Given the description of an element on the screen output the (x, y) to click on. 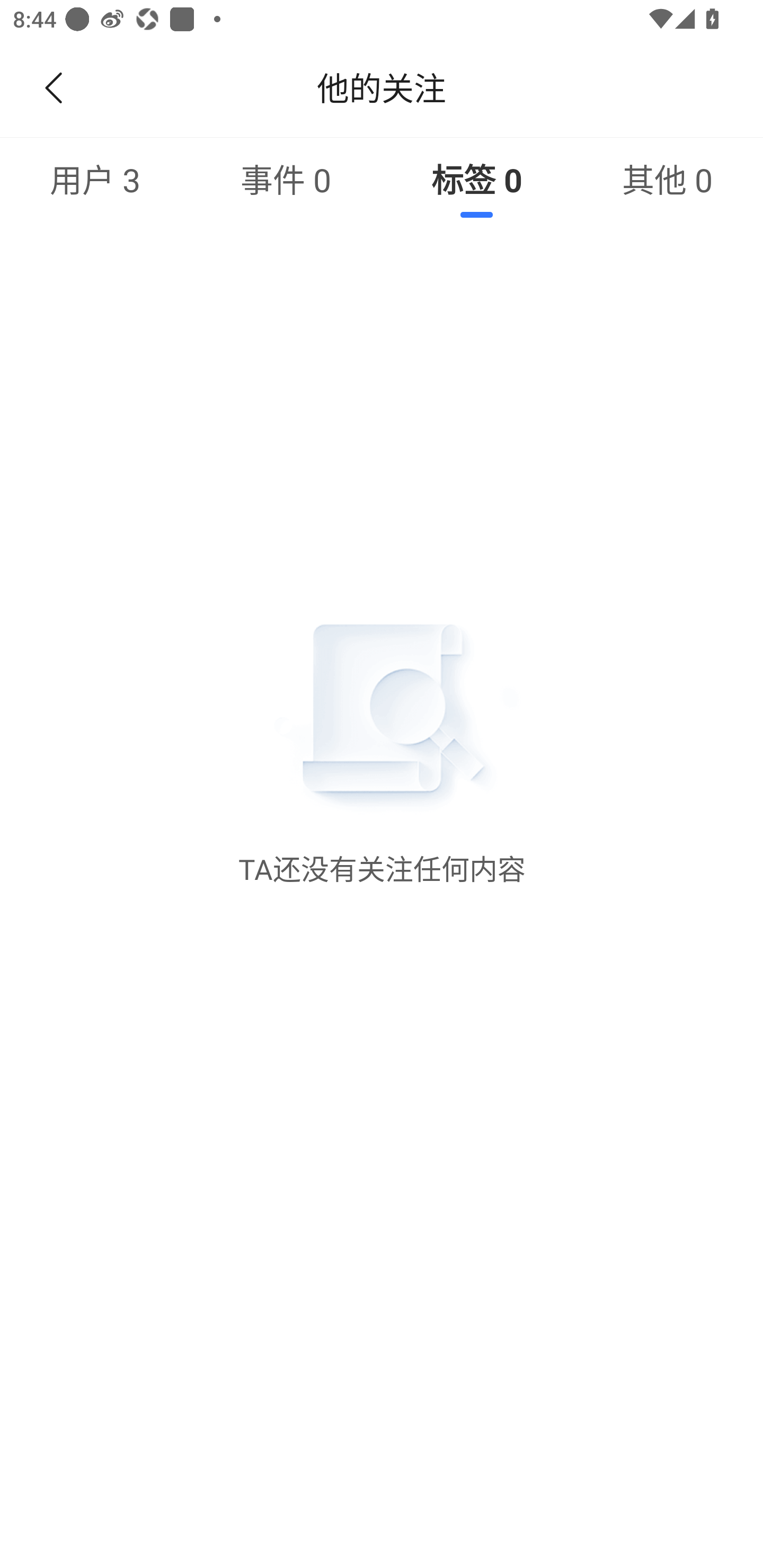
返回，可点击 (49, 87)
用户&nbsp;3，可选中 (95, 179)
事件&nbsp;0，可选中 (285, 179)
已选中标签&nbsp;0 (476, 179)
其他&nbsp;0，可选中 (667, 179)
